Given the description of an element on the screen output the (x, y) to click on. 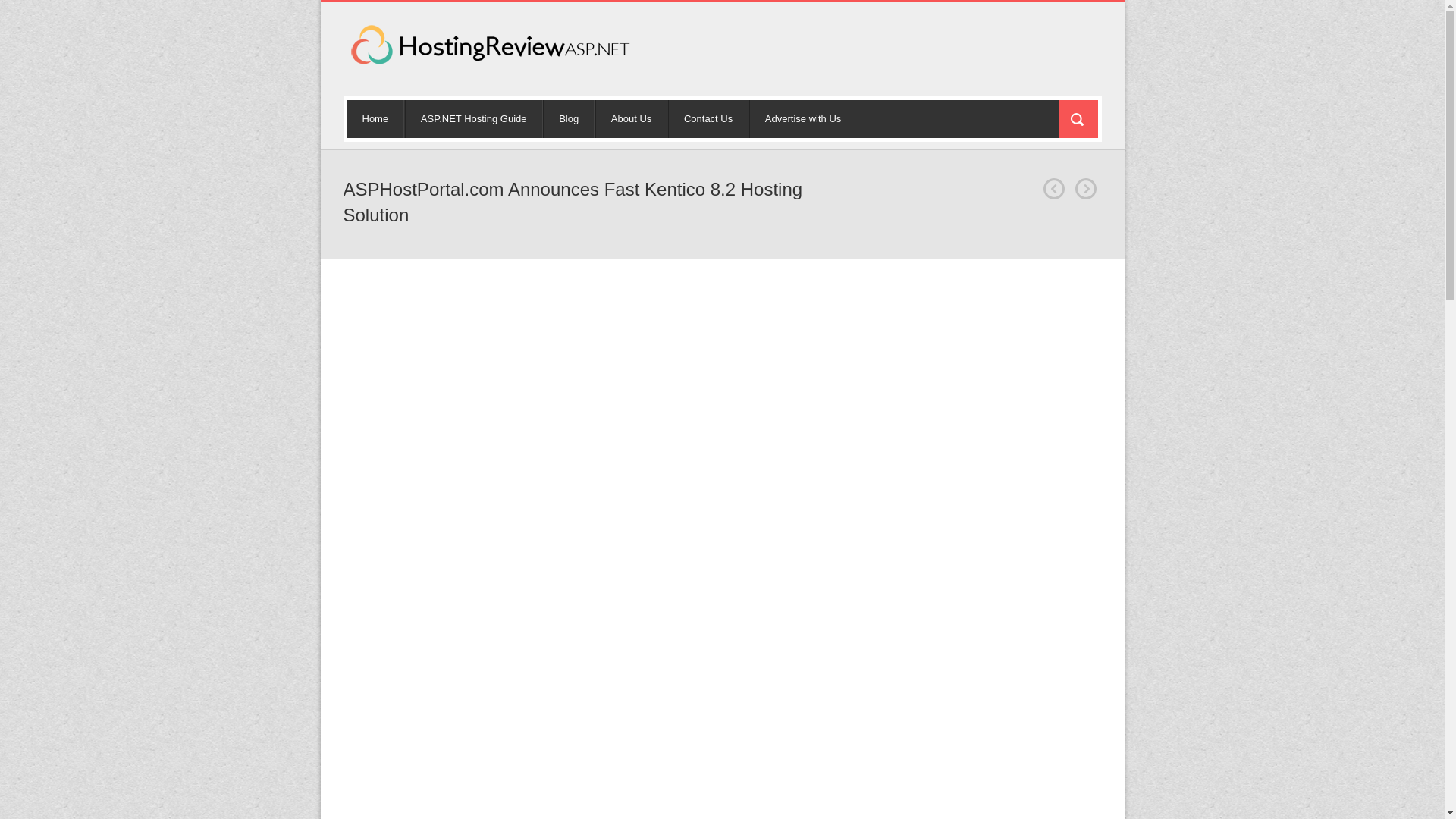
ASP.NET Hosting Guide (473, 118)
Blog (568, 118)
Home (375, 118)
About Us (630, 118)
Contact Us (708, 118)
Advertise with Us (802, 118)
